Given the description of an element on the screen output the (x, y) to click on. 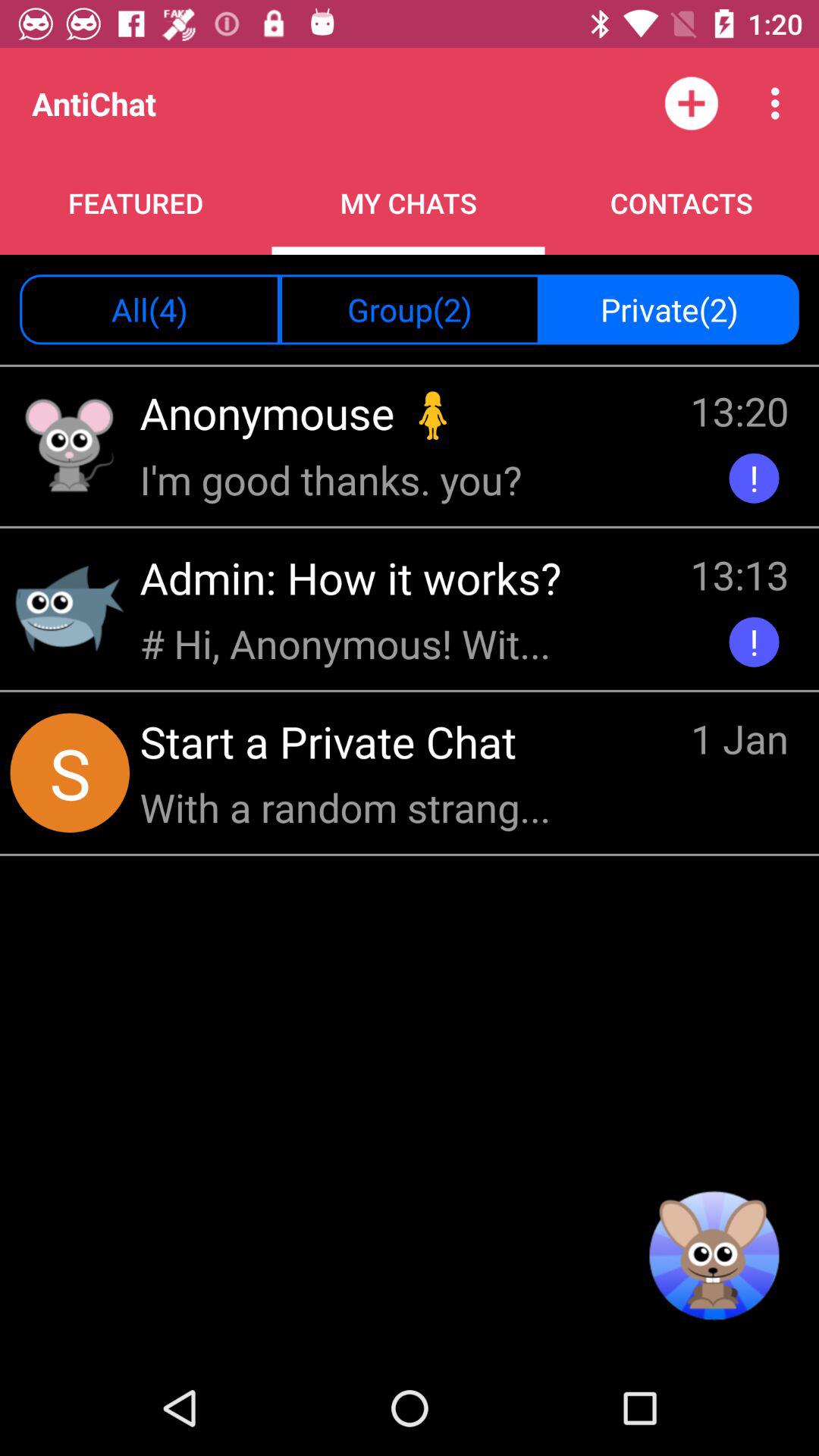
turn off item next to 13:13 (355, 577)
